Given the description of an element on the screen output the (x, y) to click on. 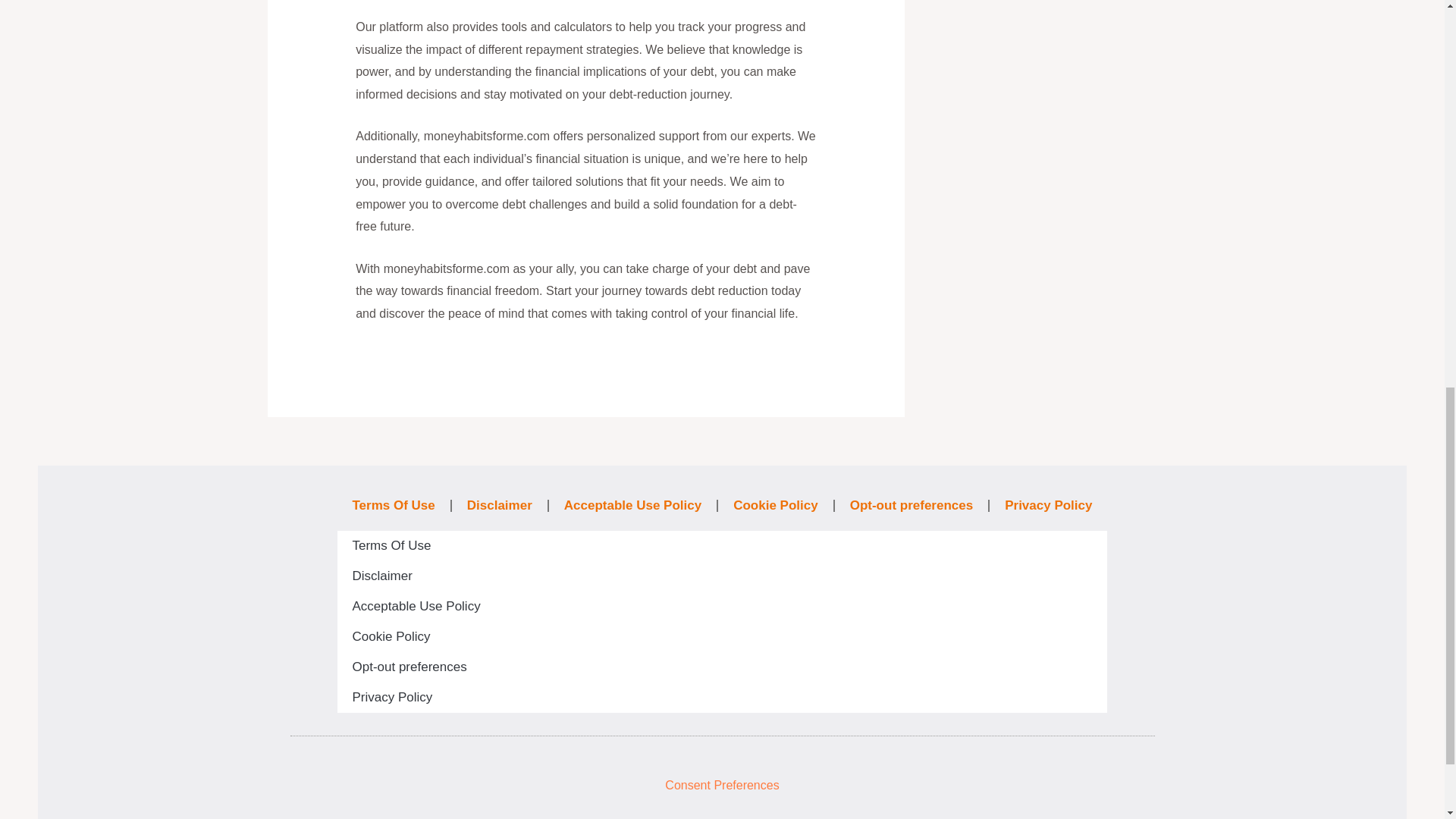
Terms Of Use (392, 505)
Cookie Policy (721, 636)
Disclaimer (721, 576)
Opt-out preferences (911, 505)
Consent Preferences (721, 784)
Terms Of Use (721, 545)
Disclaimer (499, 505)
Privacy Policy (721, 697)
Acceptable Use Policy (721, 606)
Cookie Policy (774, 505)
